Given the description of an element on the screen output the (x, y) to click on. 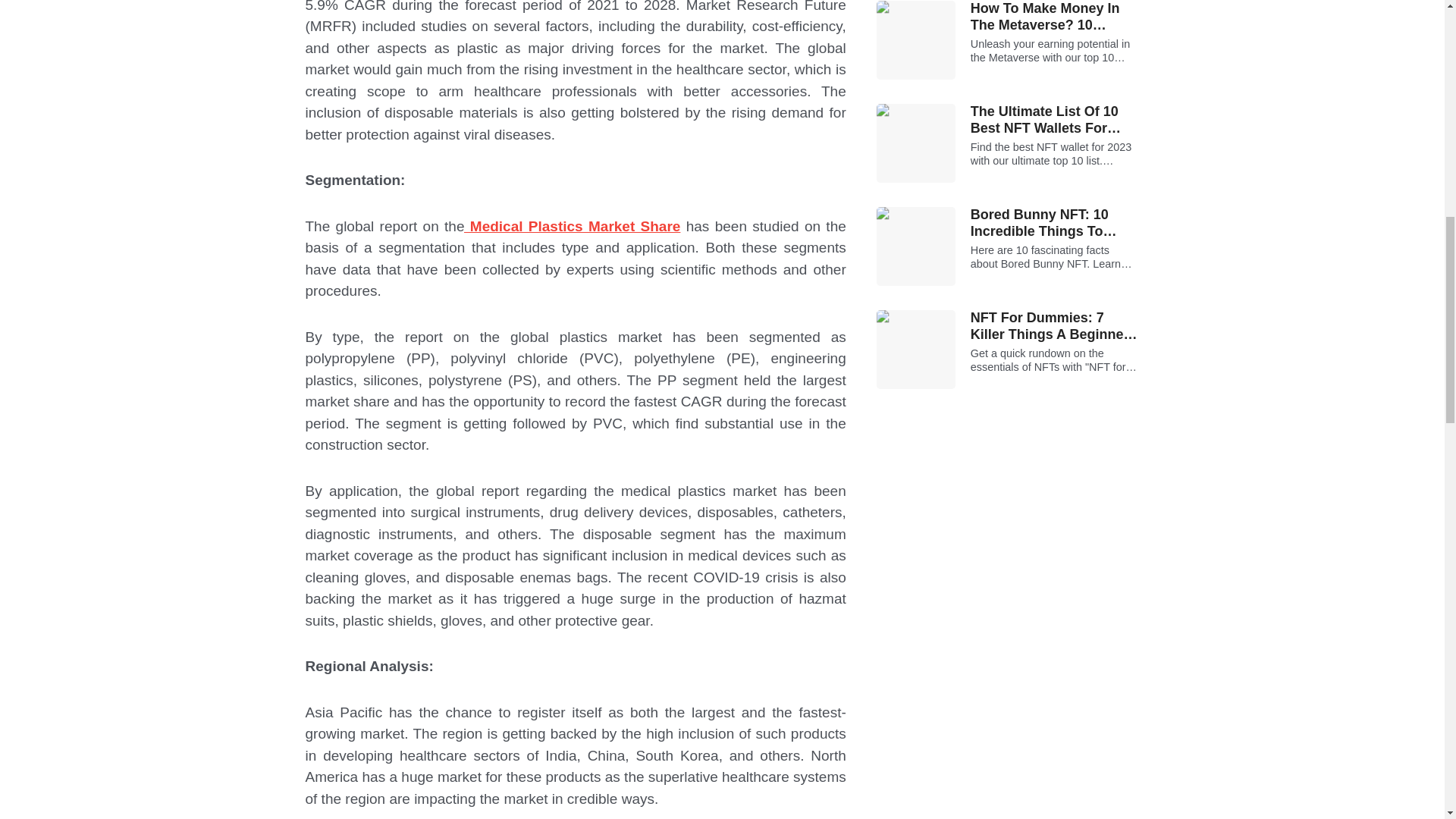
Medical Plastics Market Share (571, 226)
